Given the description of an element on the screen output the (x, y) to click on. 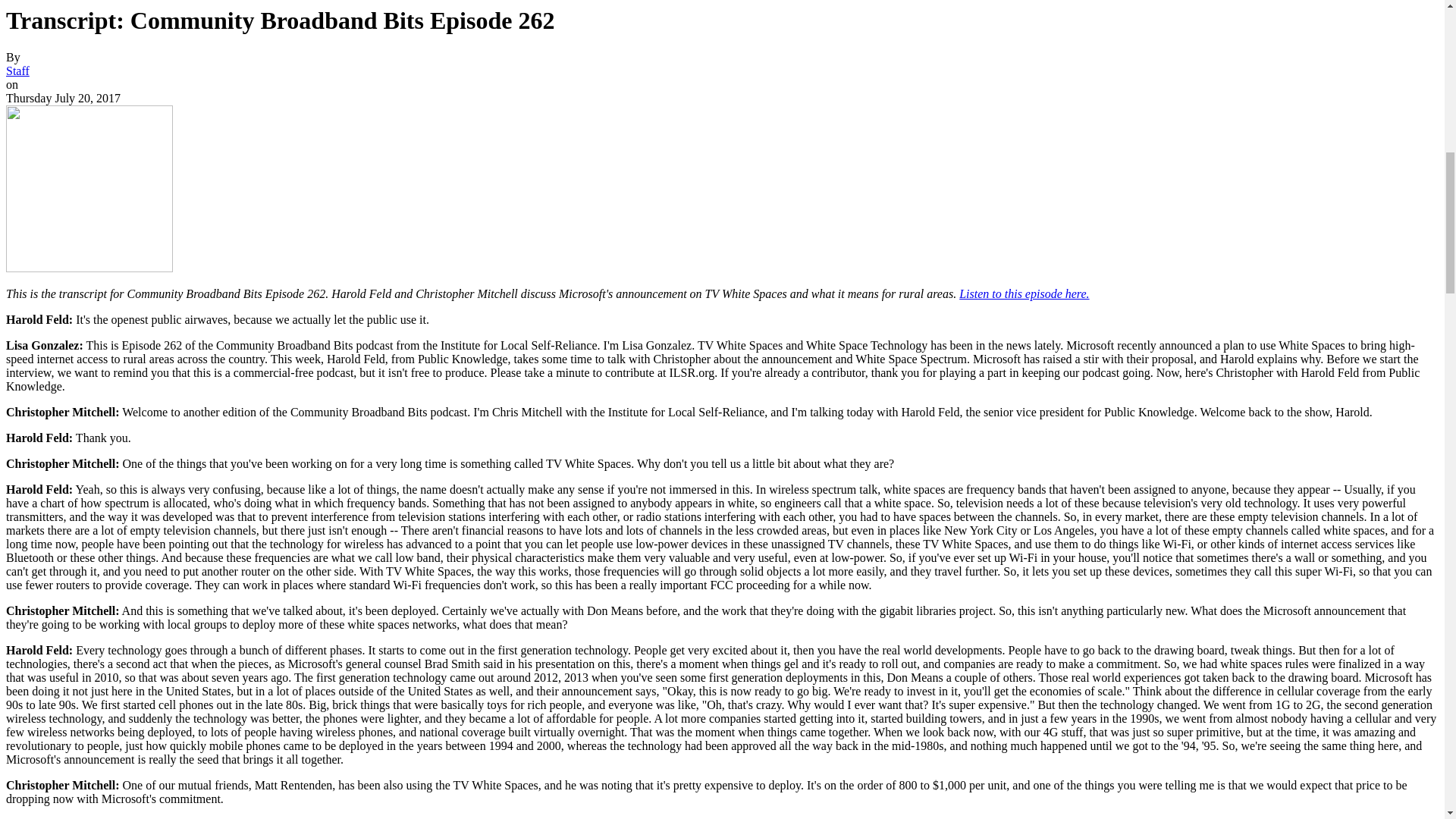
link to audio (1024, 293)
